Given the description of an element on the screen output the (x, y) to click on. 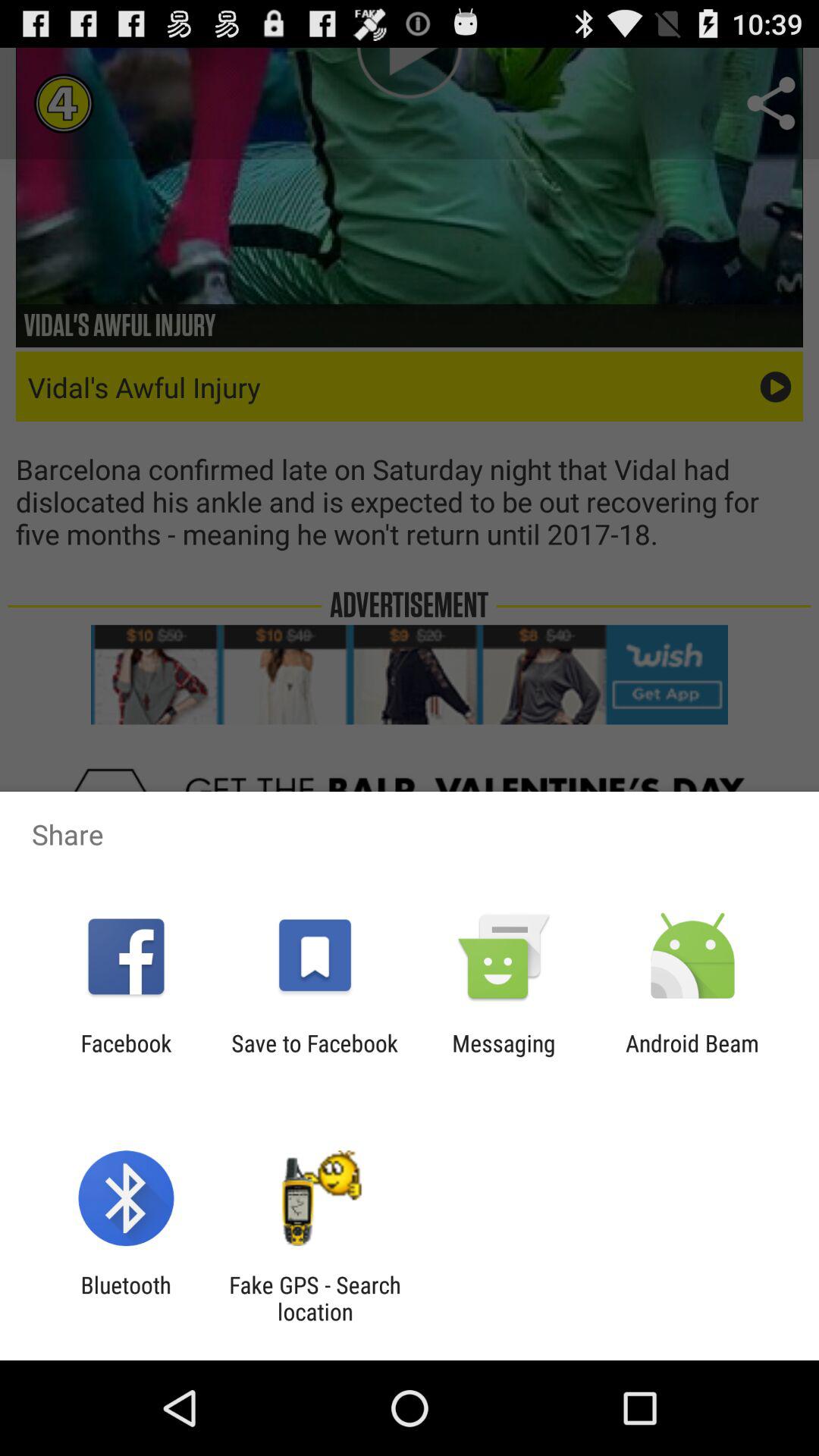
launch item next to fake gps search item (125, 1298)
